Given the description of an element on the screen output the (x, y) to click on. 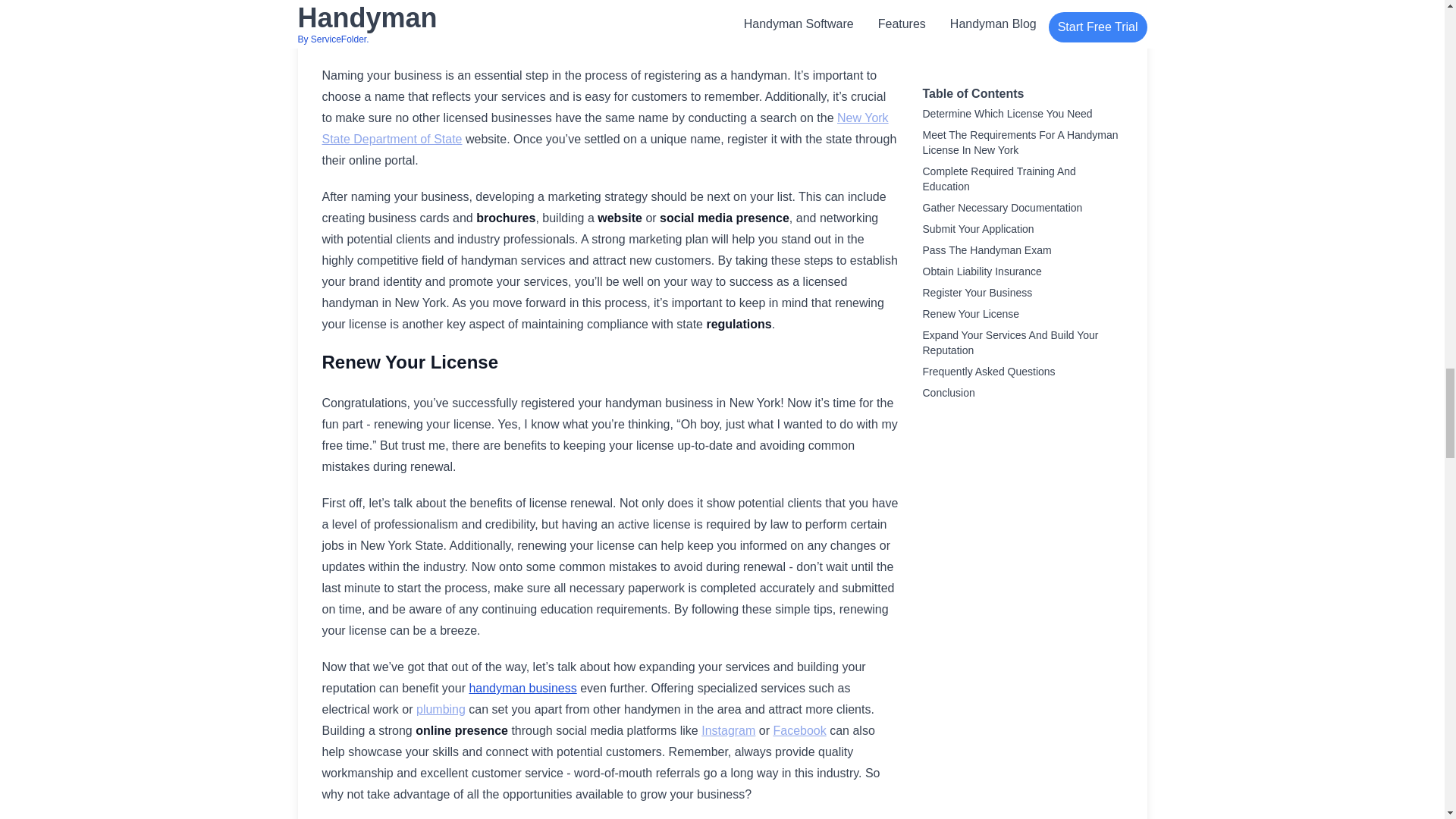
New York State Department of State (604, 128)
Facebook (799, 730)
handyman business (522, 687)
plumbing (440, 708)
Instagram (728, 730)
